Given the description of an element on the screen output the (x, y) to click on. 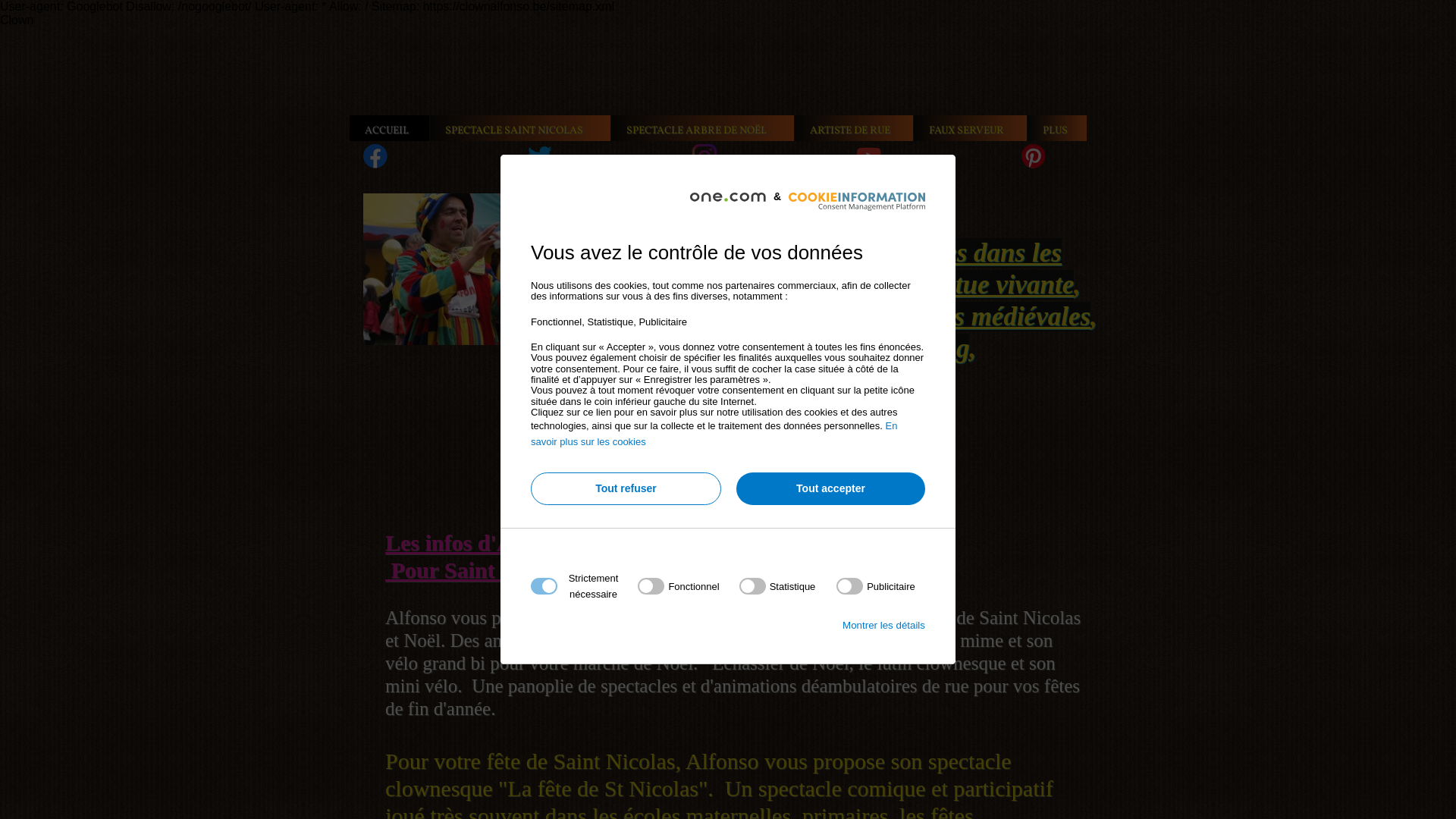
on Element type: text (777, 586)
faux serveur Element type: text (735, 316)
Tout accepter Element type: text (830, 488)
Fonctionnel Element type: text (723, 769)
PLUS Element type: text (1056, 128)
En savoir plus sur les cookies Element type: text (713, 433)
mime Element type: text (880, 284)
team building Element type: text (893, 348)
FAUX SERVEUR Element type: text (969, 128)
clown Element type: hover (448, 269)
Formation clownesque Element type: text (679, 348)
statue vivante Element type: text (998, 284)
ARTISTE DE RUE Element type: text (853, 128)
humoriste Element type: text (608, 380)
on Element type: text (875, 586)
Spectacles Element type: text (610, 252)
SPECTACLE SAINT NICOLAS Element type: text (519, 128)
Tout refuser Element type: text (625, 488)
artistes de rue Element type: text (763, 252)
ACCUEIL Element type: text (389, 128)
on Element type: text (677, 586)
